Given the description of an element on the screen output the (x, y) to click on. 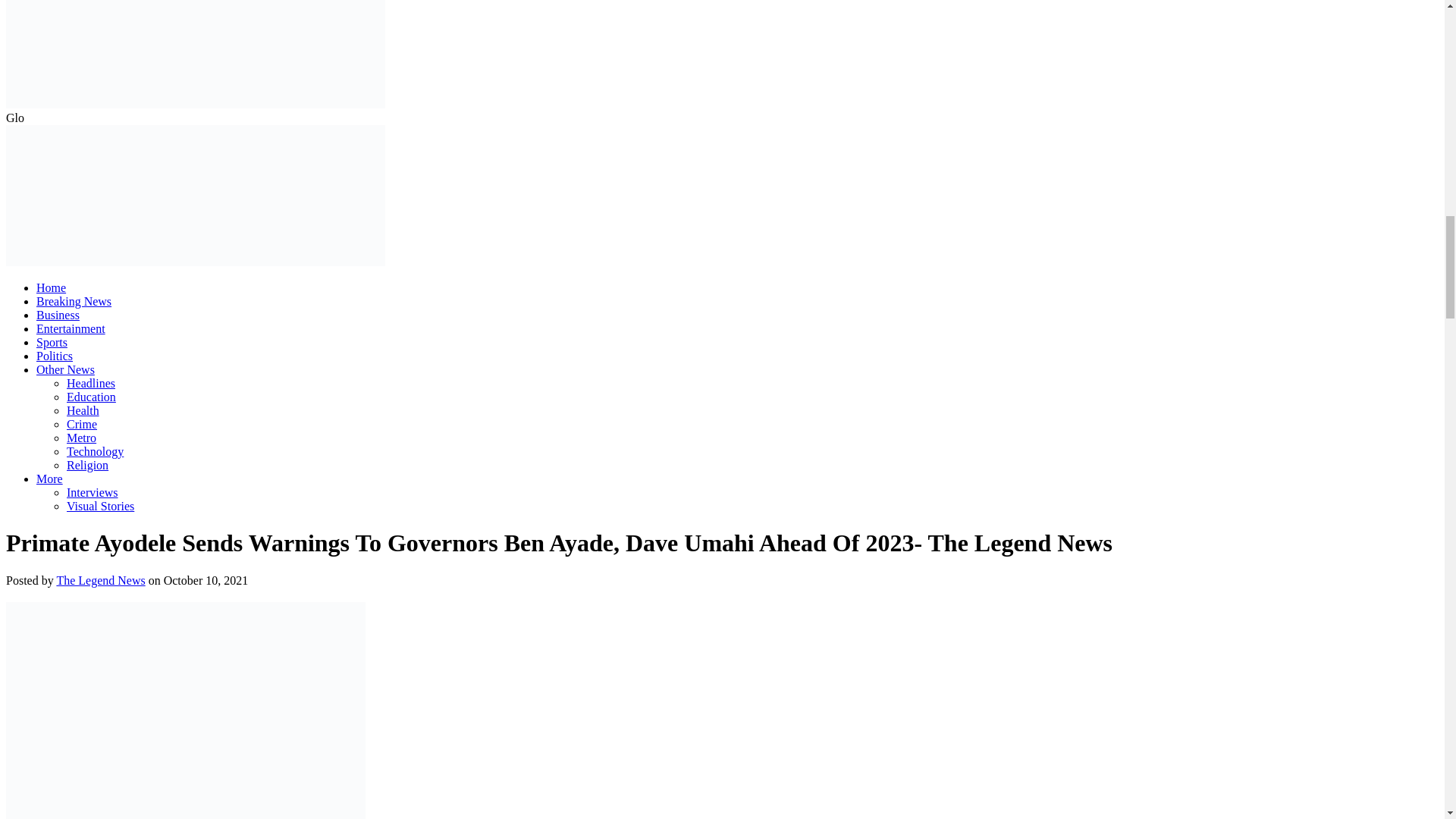
Headlines (90, 382)
Technology (94, 451)
Religion (86, 464)
More Contents (49, 478)
Other News (65, 369)
Sports (51, 341)
Education (91, 396)
More (49, 478)
Posts by The Legend News (100, 580)
Politics (54, 355)
